Given the description of an element on the screen output the (x, y) to click on. 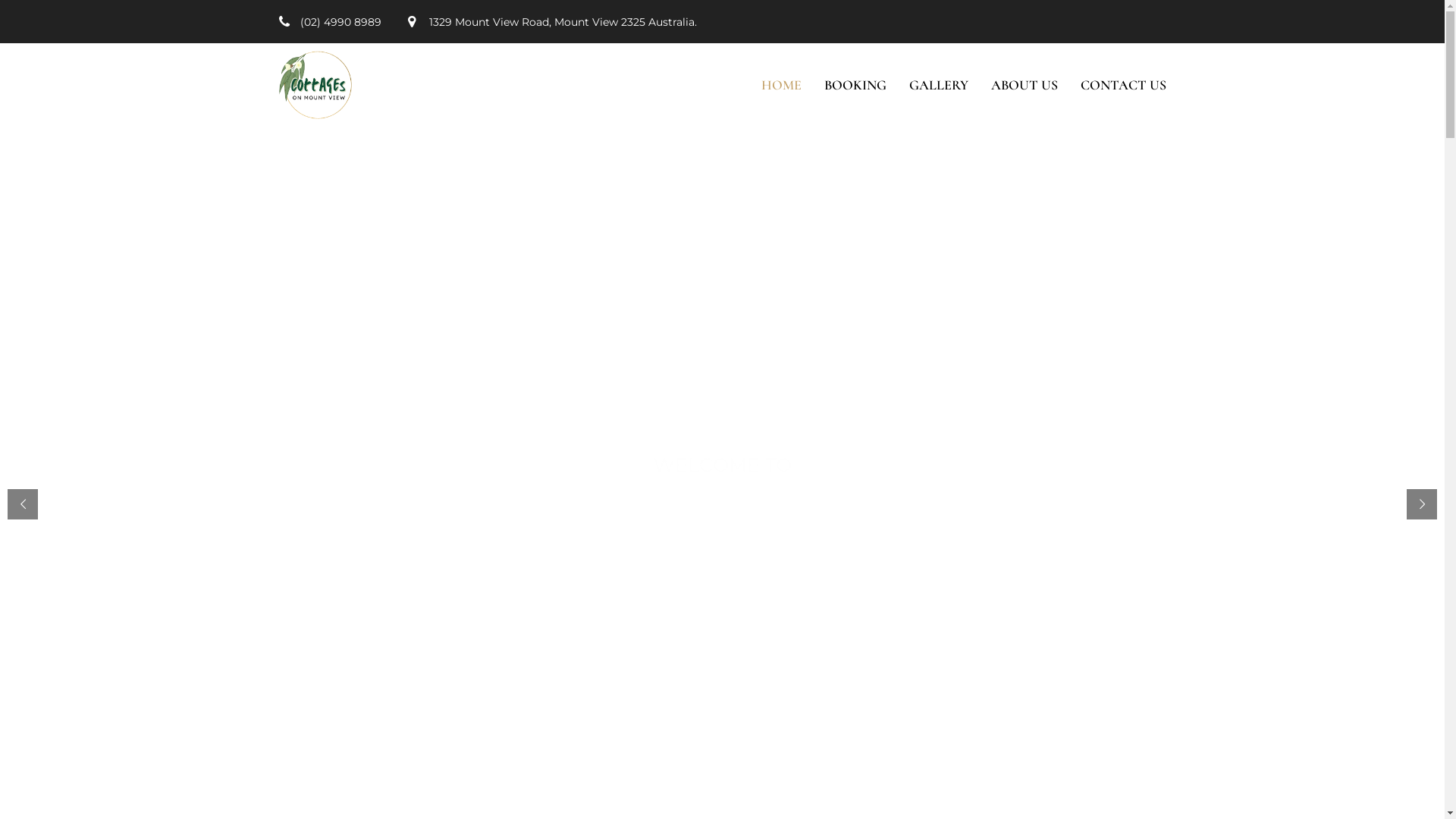
ABOUT US Element type: text (1023, 84)
GALLERY Element type: text (937, 84)
HOME Element type: text (781, 84)
BOOKING Element type: text (854, 84)
Cottages On Mount View Element type: hover (315, 84)
(02) 4990 8989 Element type: text (340, 21)
CONTACT US Element type: text (1122, 84)
